Given the description of an element on the screen output the (x, y) to click on. 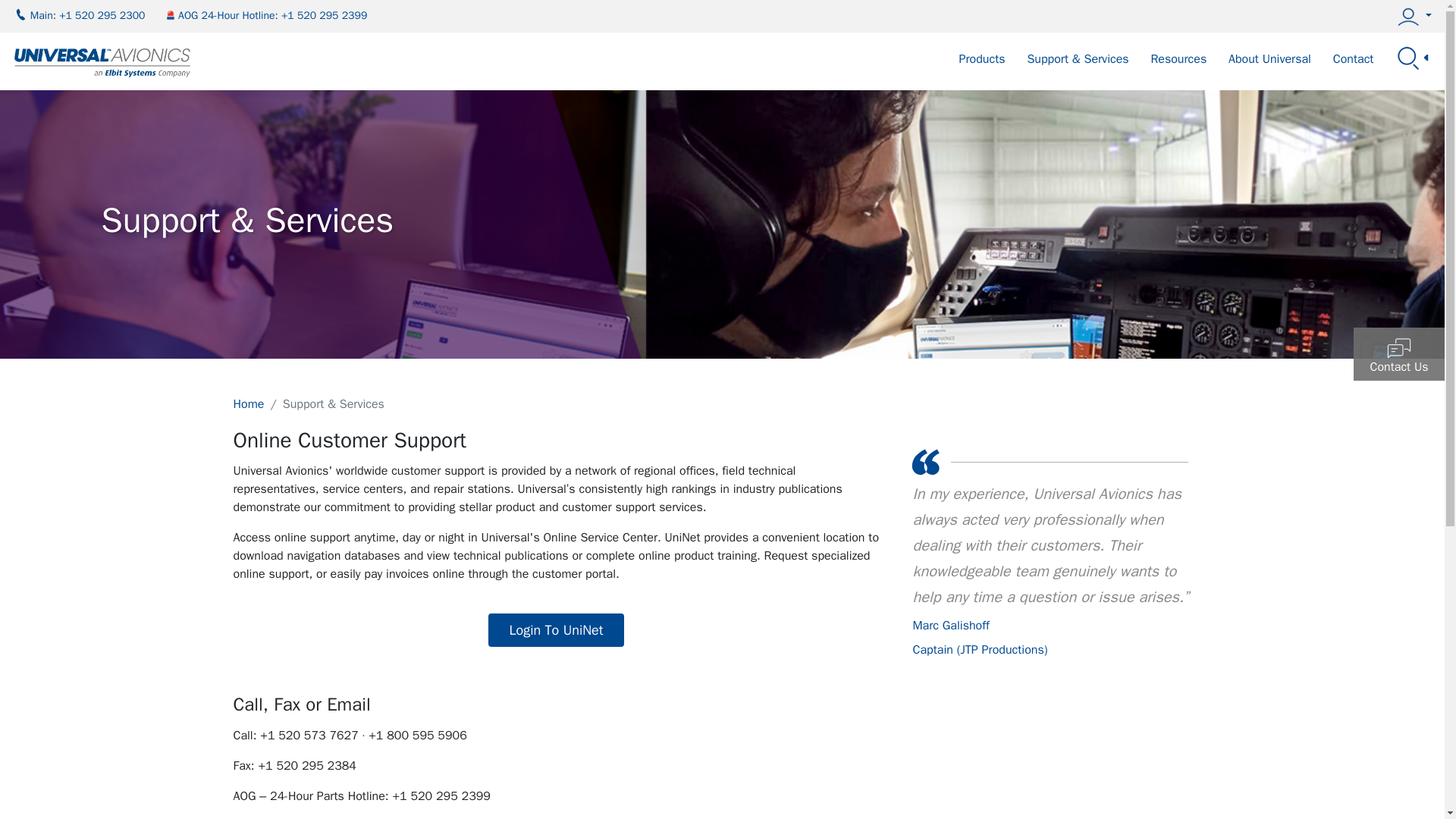
Contact (1353, 70)
Products (982, 70)
About Universal (1269, 70)
Resources (1178, 70)
